Given the description of an element on the screen output the (x, y) to click on. 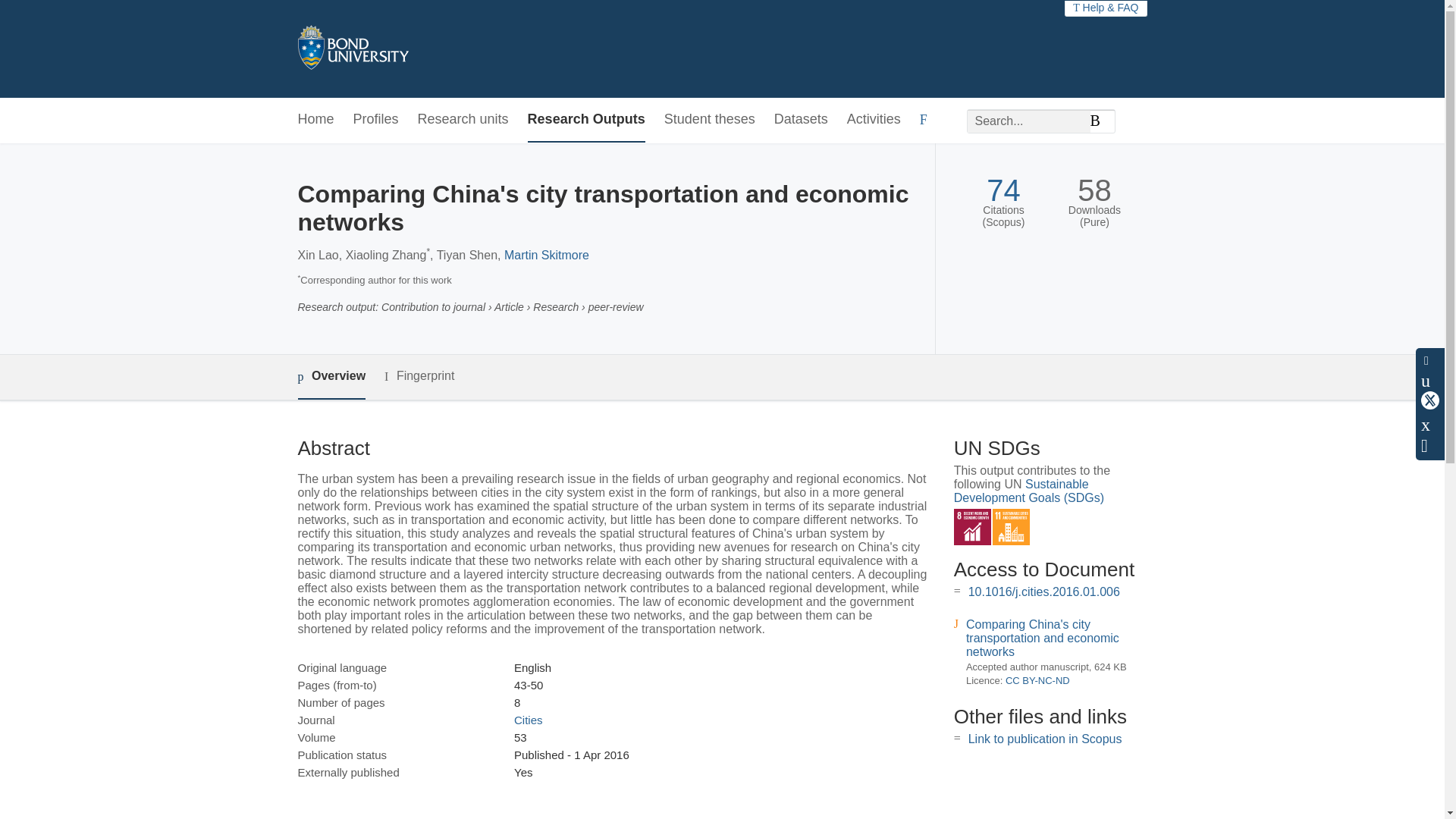
SDG 8 - Decent Work and Economic Growth (972, 527)
Fingerprint (419, 376)
SDG 11 - Sustainable Cities and Communities (1010, 527)
Profiles (375, 119)
Activities (874, 119)
Link to publication in Scopus (1045, 738)
Martin Skitmore (546, 254)
Student theses (709, 119)
Comparing China's city transportation and economic networks (1042, 638)
